Given the description of an element on the screen output the (x, y) to click on. 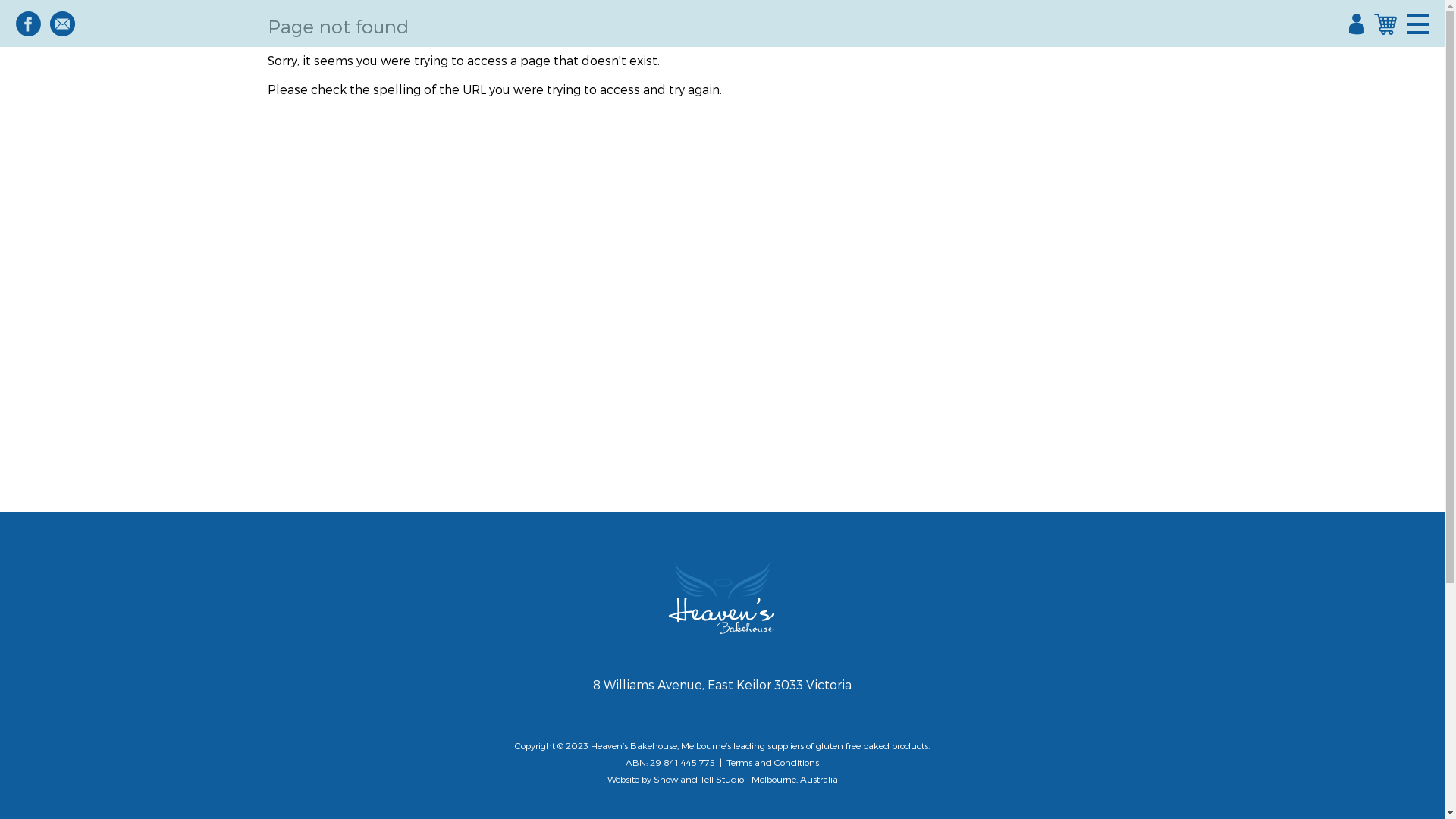
Terms and Conditions Element type: text (772, 761)
Show and Tell Studio Element type: text (698, 778)
